Given the description of an element on the screen output the (x, y) to click on. 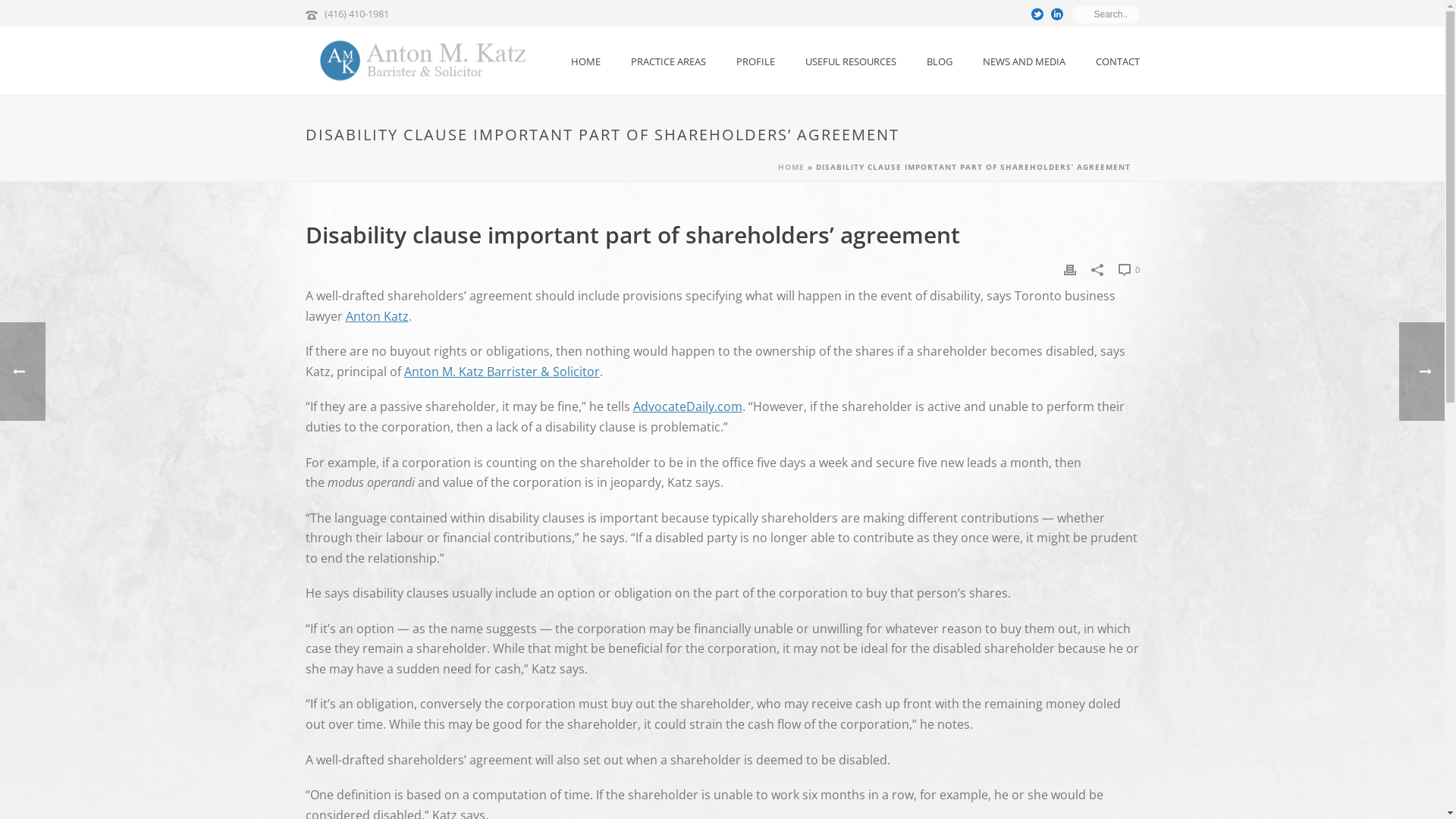
HOME Element type: text (585, 61)
HOME Element type: text (791, 166)
Anton M. Katz Barrister & Solicitor Element type: text (501, 371)
Corporate-Commercial and Litigation Lawyer in the GTA Element type: hover (414, 59)
(416) 410-1981 Element type: text (356, 13)
0 Element type: text (1128, 269)
NEWS AND MEDIA Element type: text (1023, 61)
PRACTICE AREAS Element type: text (668, 61)
BLOG Element type: text (939, 61)
Print Element type: hover (1069, 268)
AdvocateDaily.com Element type: text (686, 406)
PROFILE Element type: text (754, 61)
CONTACT Element type: text (1116, 61)
USEFUL RESOURCES Element type: text (850, 61)
Anton Katz Element type: text (376, 315)
